Given the description of an element on the screen output the (x, y) to click on. 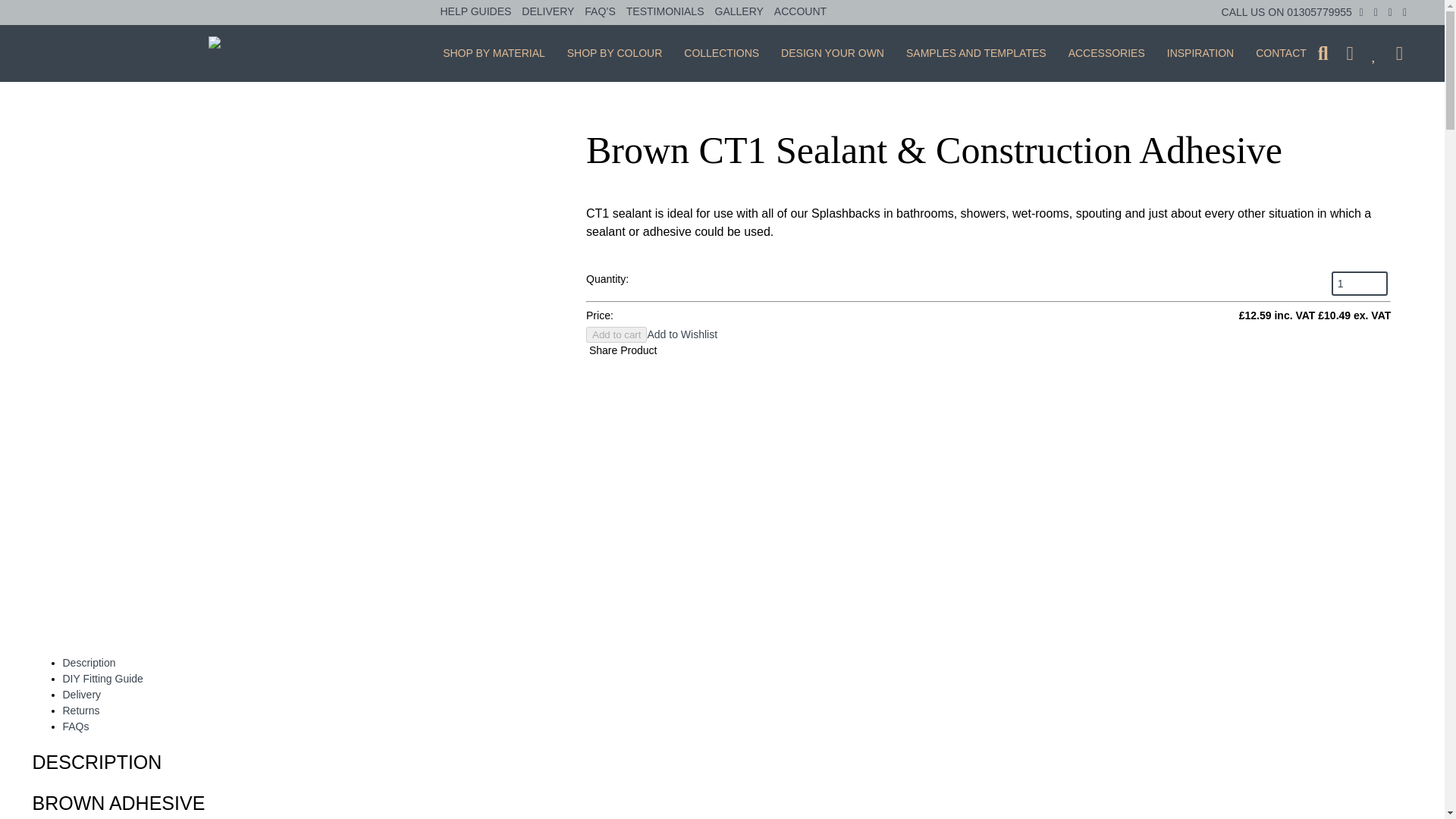
TESTIMONIALS (665, 12)
1 (1359, 283)
SHOP BY COLOUR (614, 54)
GALLERY (738, 12)
DELIVERY (547, 12)
ACCOUNT (800, 12)
01305779955 (1319, 11)
SHOP BY MATERIAL (494, 54)
HELP GUIDES (475, 12)
